Given the description of an element on the screen output the (x, y) to click on. 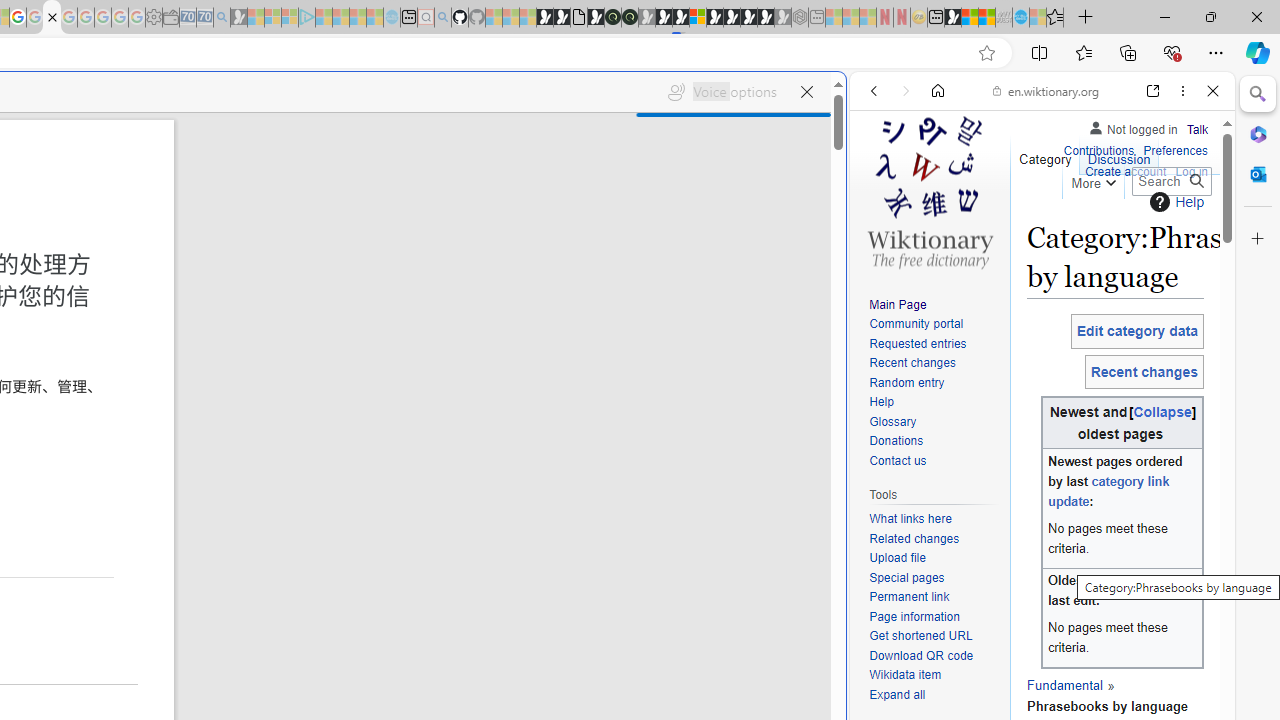
Discussion (1118, 154)
Frequently visited (418, 265)
Earth has six continents not seven, radical new study claims (986, 17)
Recent changes (912, 362)
Requested entries (917, 343)
Permanent link (934, 597)
Special pages (934, 578)
